Given the description of an element on the screen output the (x, y) to click on. 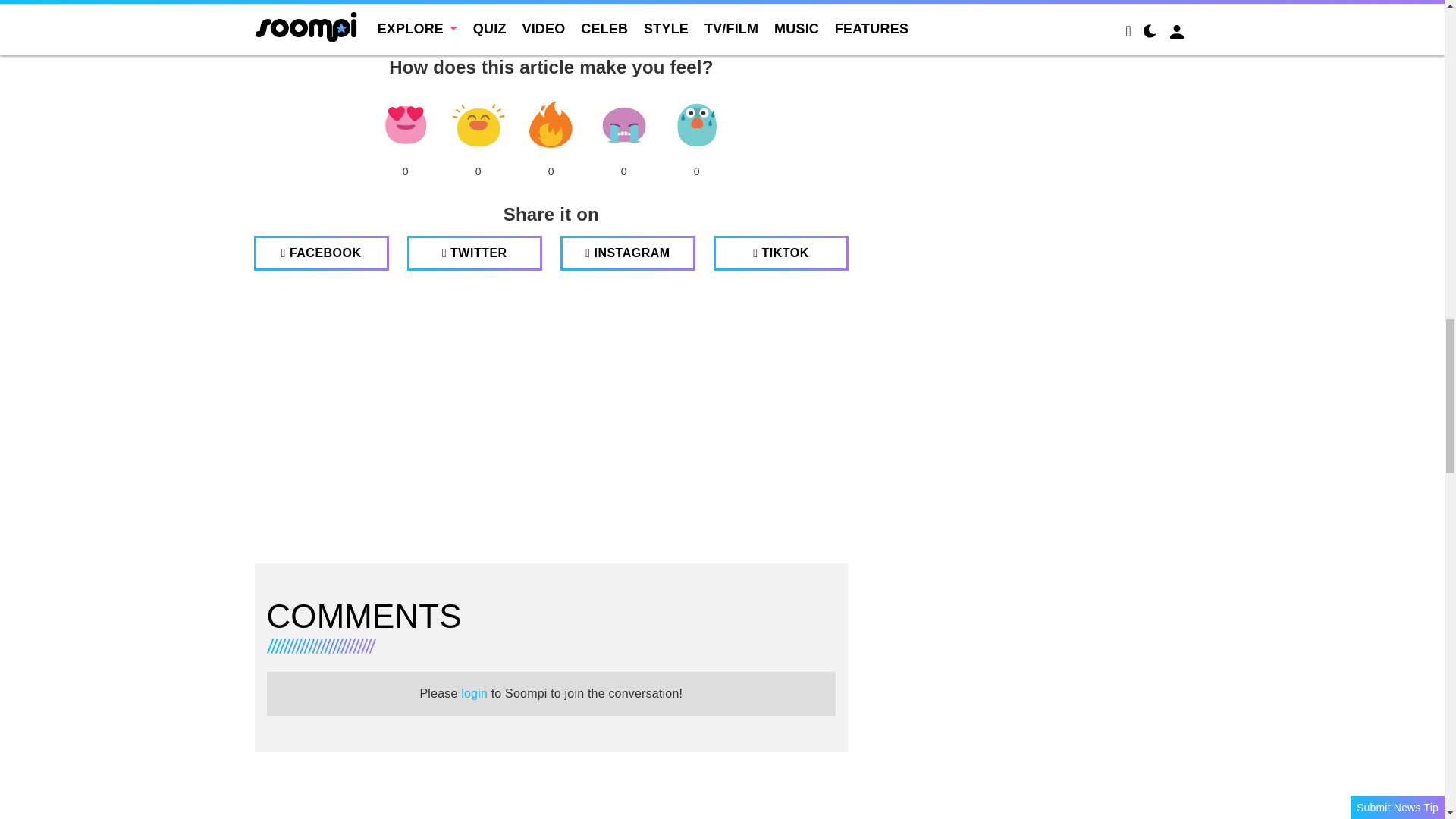
OMG (696, 125)
Reply 1994 (330, 31)
Heart (405, 125)
3rd party ad content (551, 389)
Yoo Yeon Suk (408, 31)
REPLY 1994 (330, 31)
YOO YEON SUK (408, 31)
Fire (550, 125)
KPLG (271, 31)
cry (623, 125)
KPLG (271, 31)
fire (550, 125)
heart (405, 125)
LOL (478, 125)
lol (478, 125)
